Given the description of an element on the screen output the (x, y) to click on. 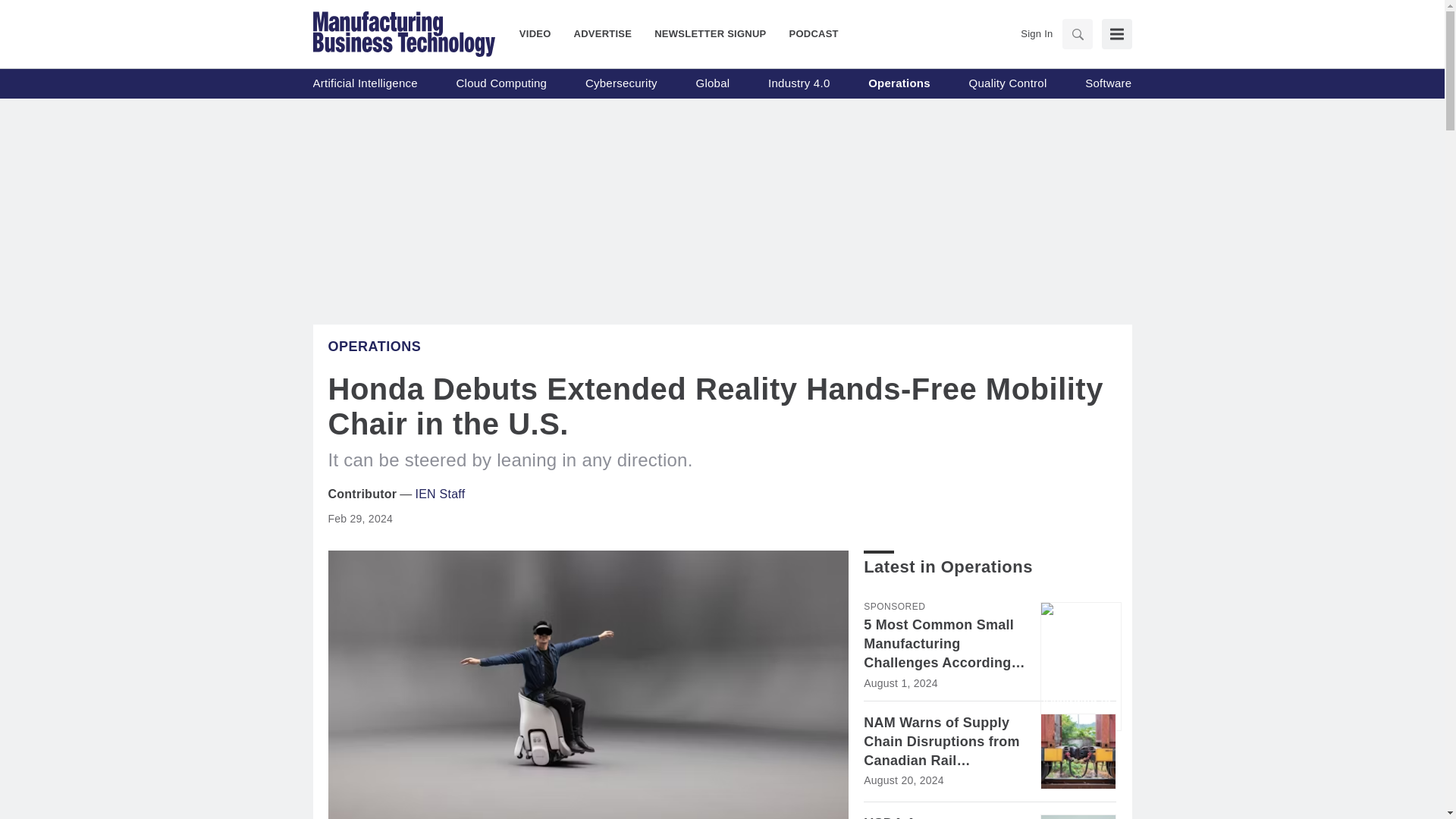
Sign In (1036, 33)
Artificial Intelligence (364, 83)
VIDEO (540, 33)
Sponsored (893, 605)
PODCAST (807, 33)
Quality Control (1007, 83)
Cybersecurity (621, 83)
Cloud Computing (502, 83)
Industry 4.0 (798, 83)
NEWSLETTER SIGNUP (710, 33)
